Given the description of an element on the screen output the (x, y) to click on. 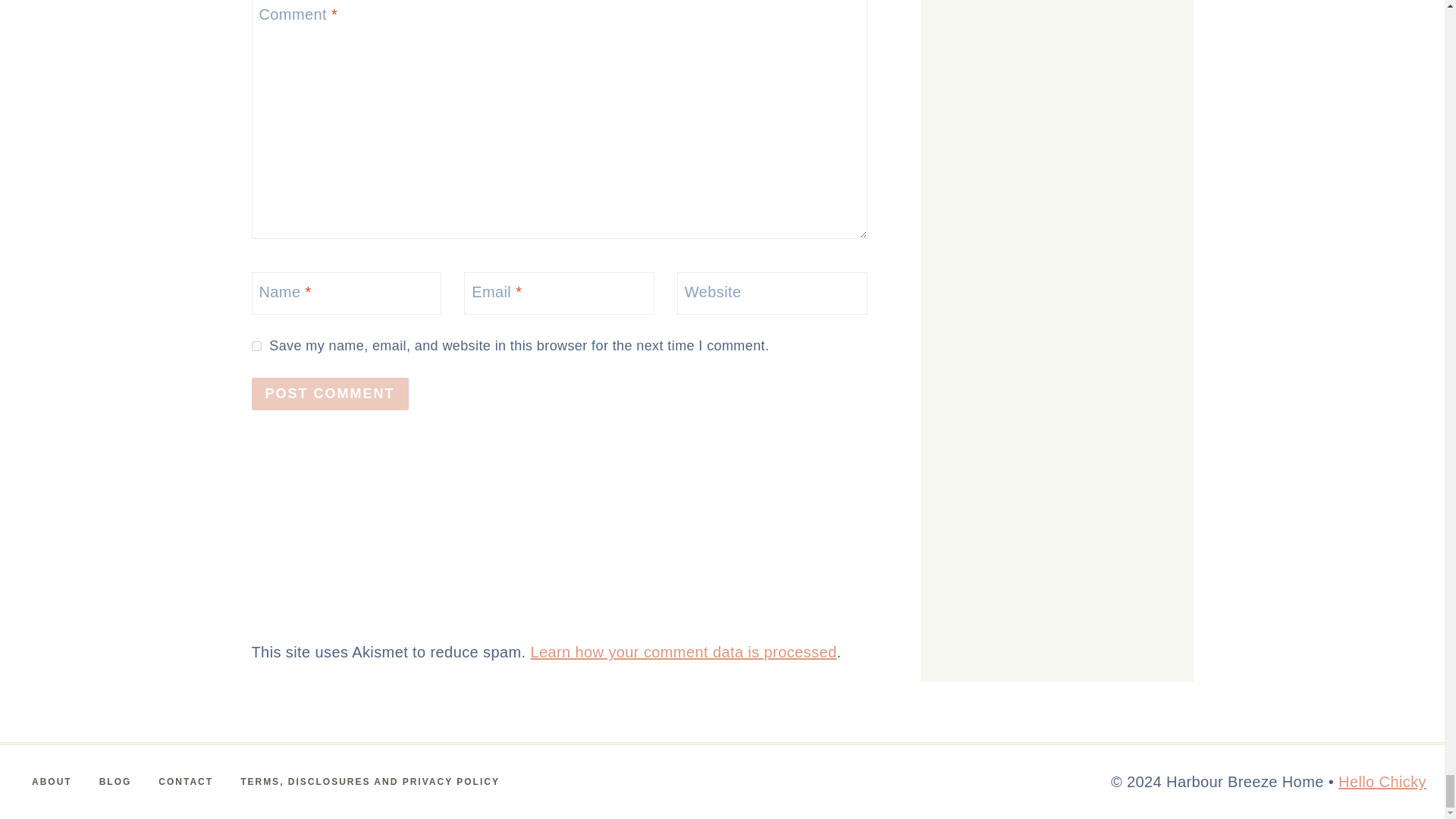
yes (256, 346)
Post Comment (330, 393)
